Given the description of an element on the screen output the (x, y) to click on. 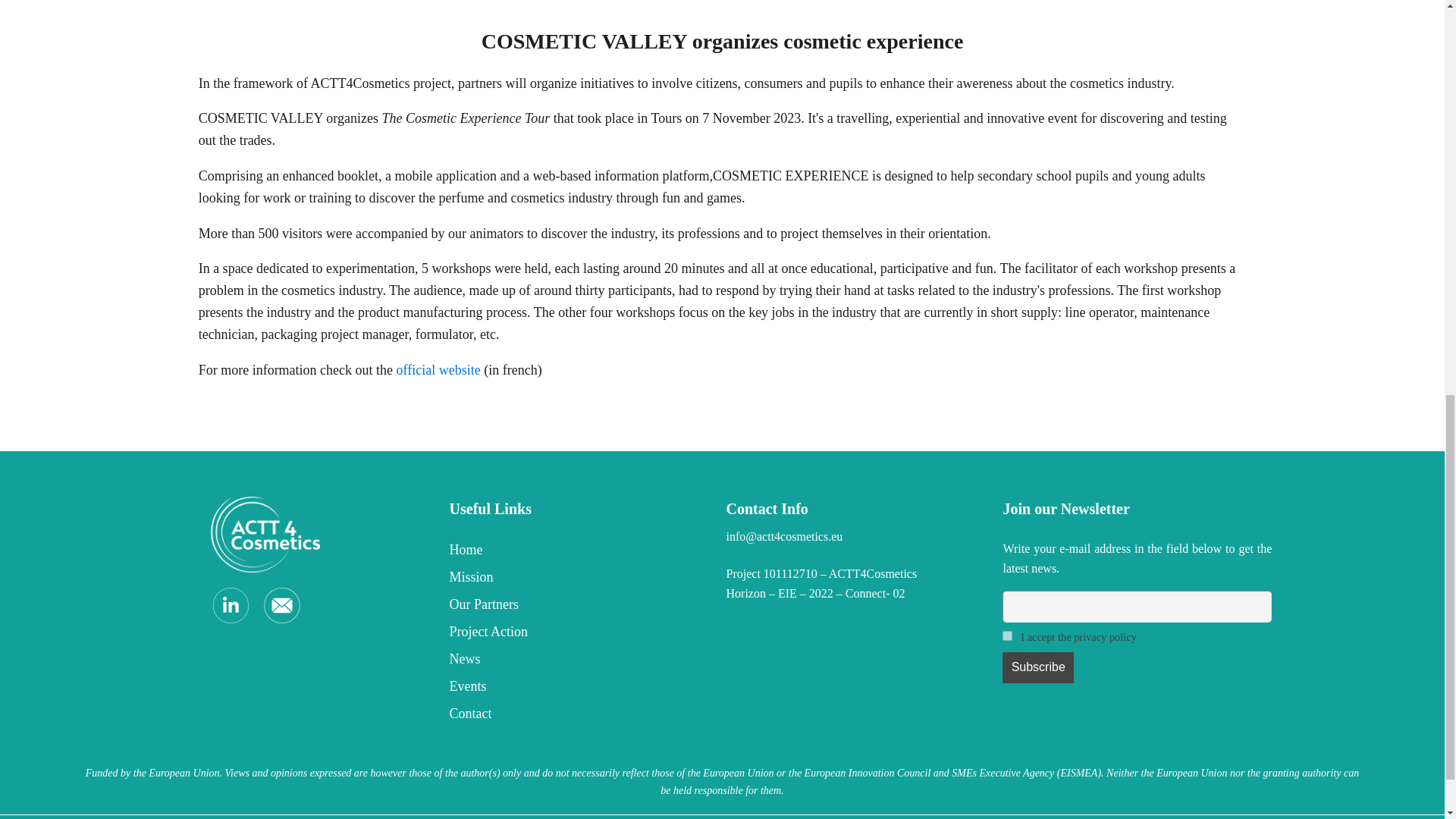
Home (494, 549)
Events (494, 686)
Project Action (494, 631)
on (1007, 635)
Mission (494, 576)
Subscribe (1038, 666)
Subscribe (1038, 666)
Our Partners (494, 604)
News (494, 658)
official website (438, 369)
